Given the description of an element on the screen output the (x, y) to click on. 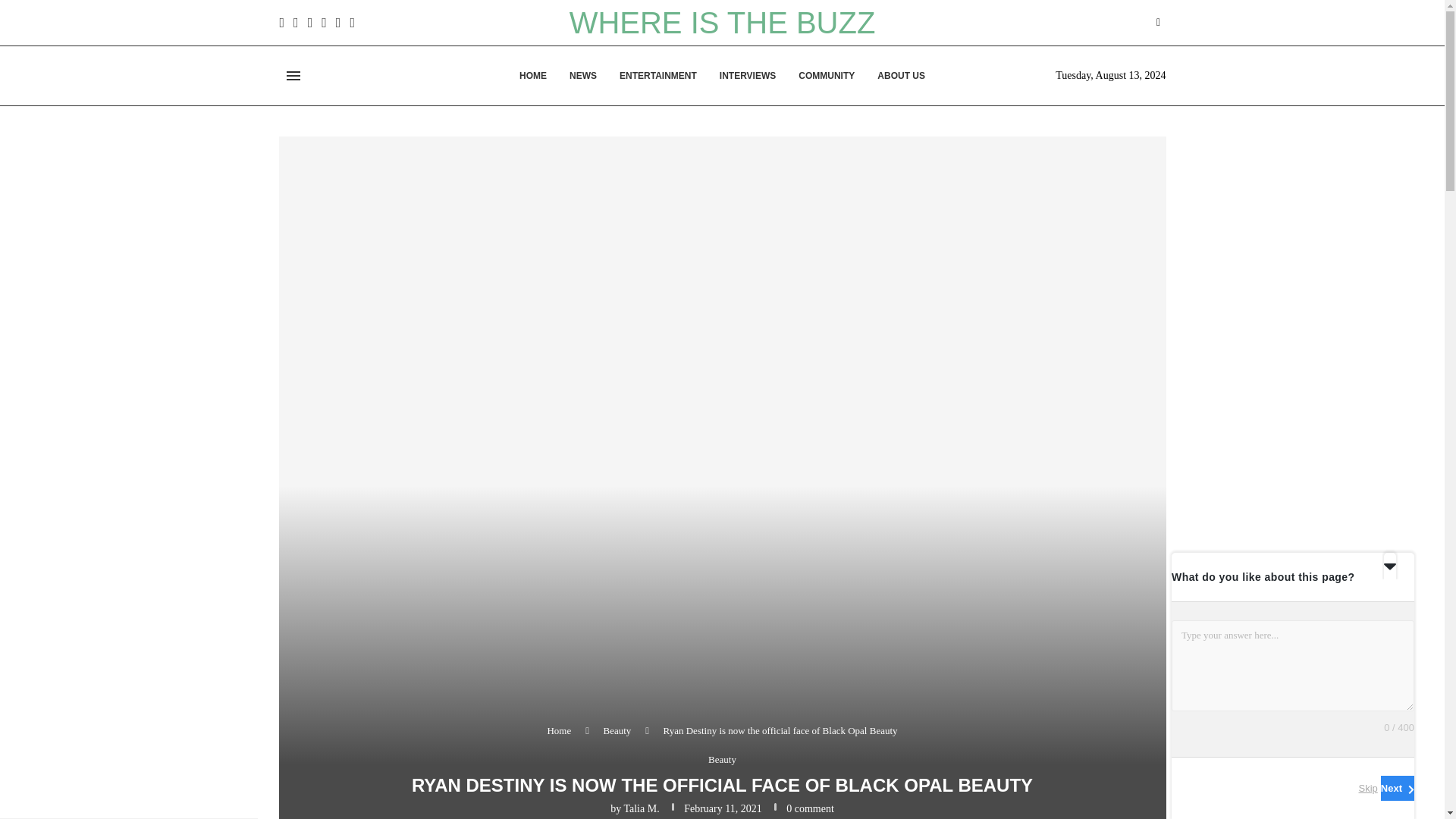
COMMUNITY (825, 75)
ENTERTAINMENT (658, 75)
WHERE IS THE BUZZ (722, 22)
INTERVIEWS (747, 75)
ABOUT US (900, 75)
